Given the description of an element on the screen output the (x, y) to click on. 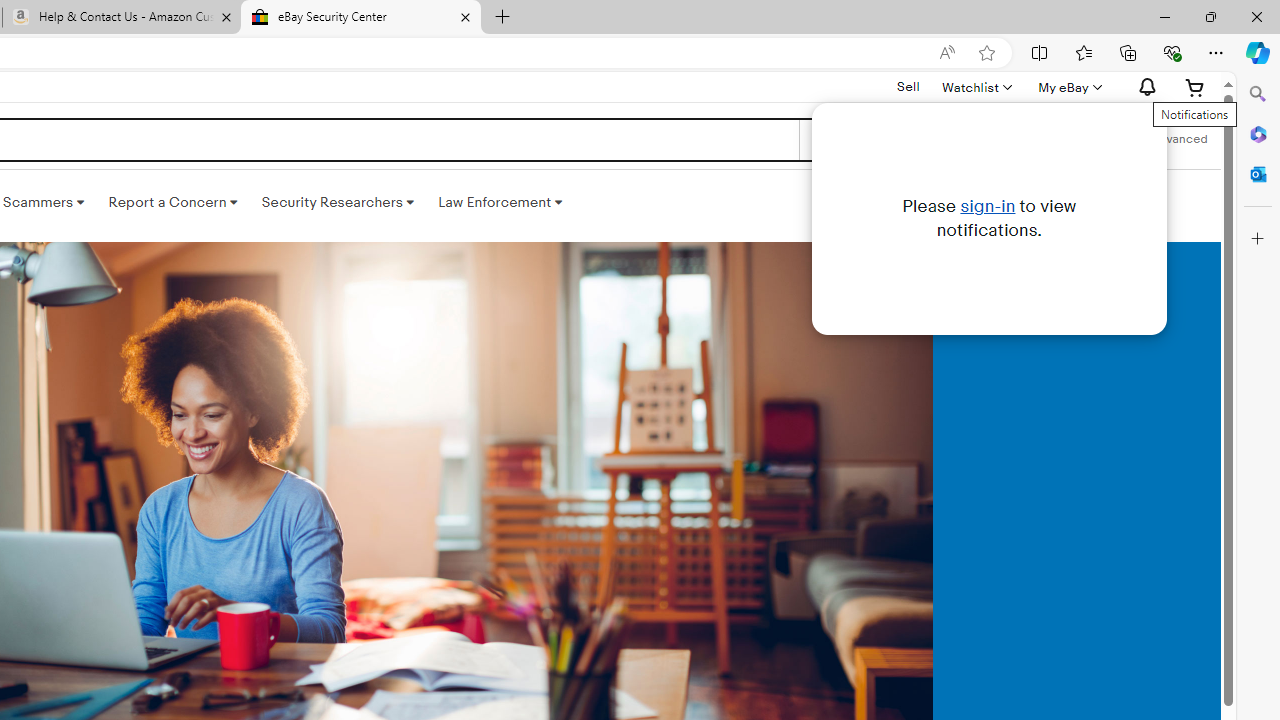
Customize (1258, 239)
My eBayExpand My eBay (1068, 87)
Security Researchers  (337, 202)
Report a Concern  (173, 202)
Select a category for search (877, 139)
Sell (907, 86)
Sell (908, 87)
Please sign-in to view notifications. (1144, 87)
Please sign-in to view notifications. (989, 218)
